Given the description of an element on the screen output the (x, y) to click on. 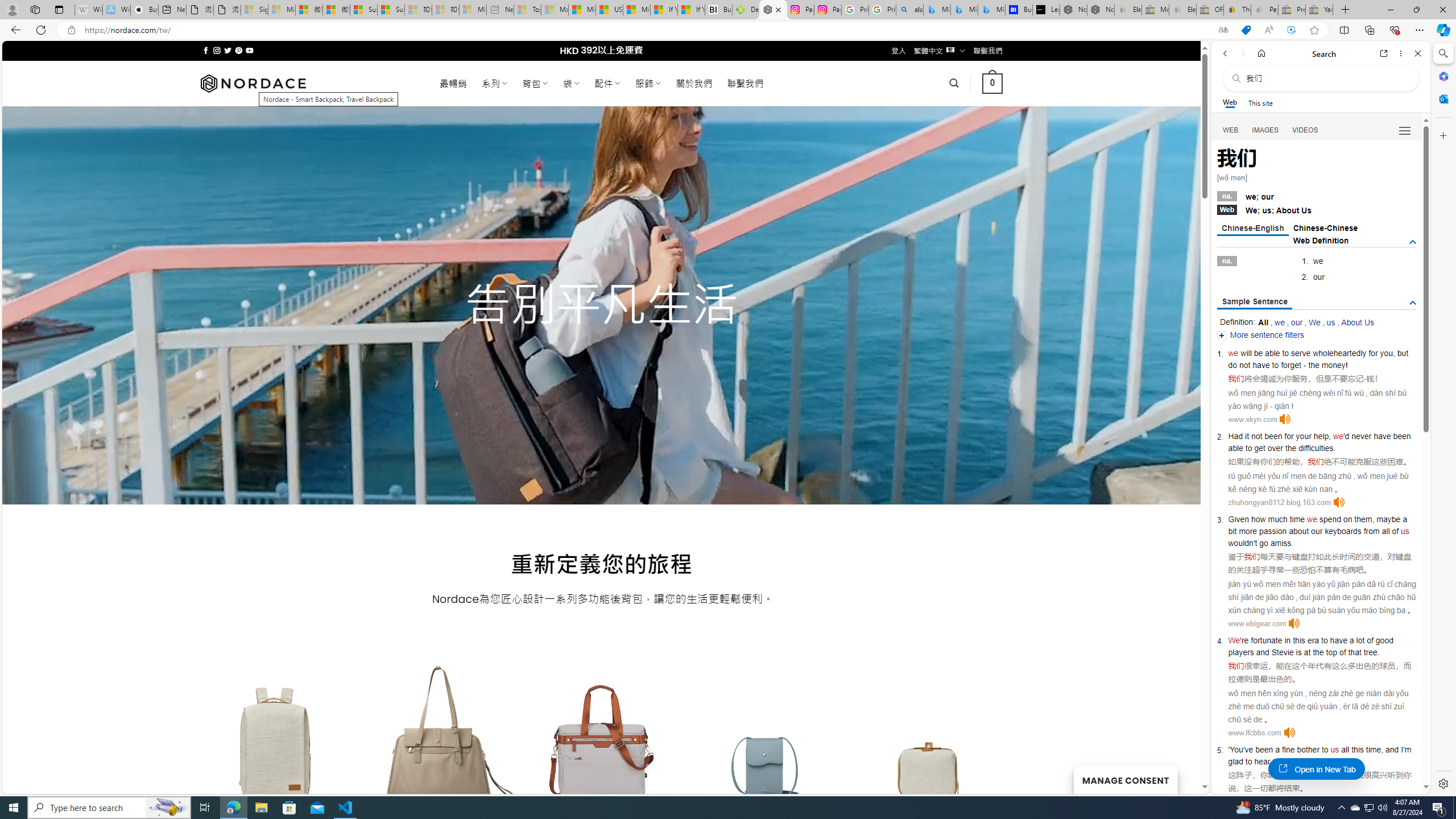
  0   (992, 83)
. (1330, 760)
for (1372, 352)
the (1290, 447)
Microsoft Services Agreement - Sleeping (281, 9)
Enhance video (1291, 29)
maybe (1387, 519)
